Given the description of an element on the screen output the (x, y) to click on. 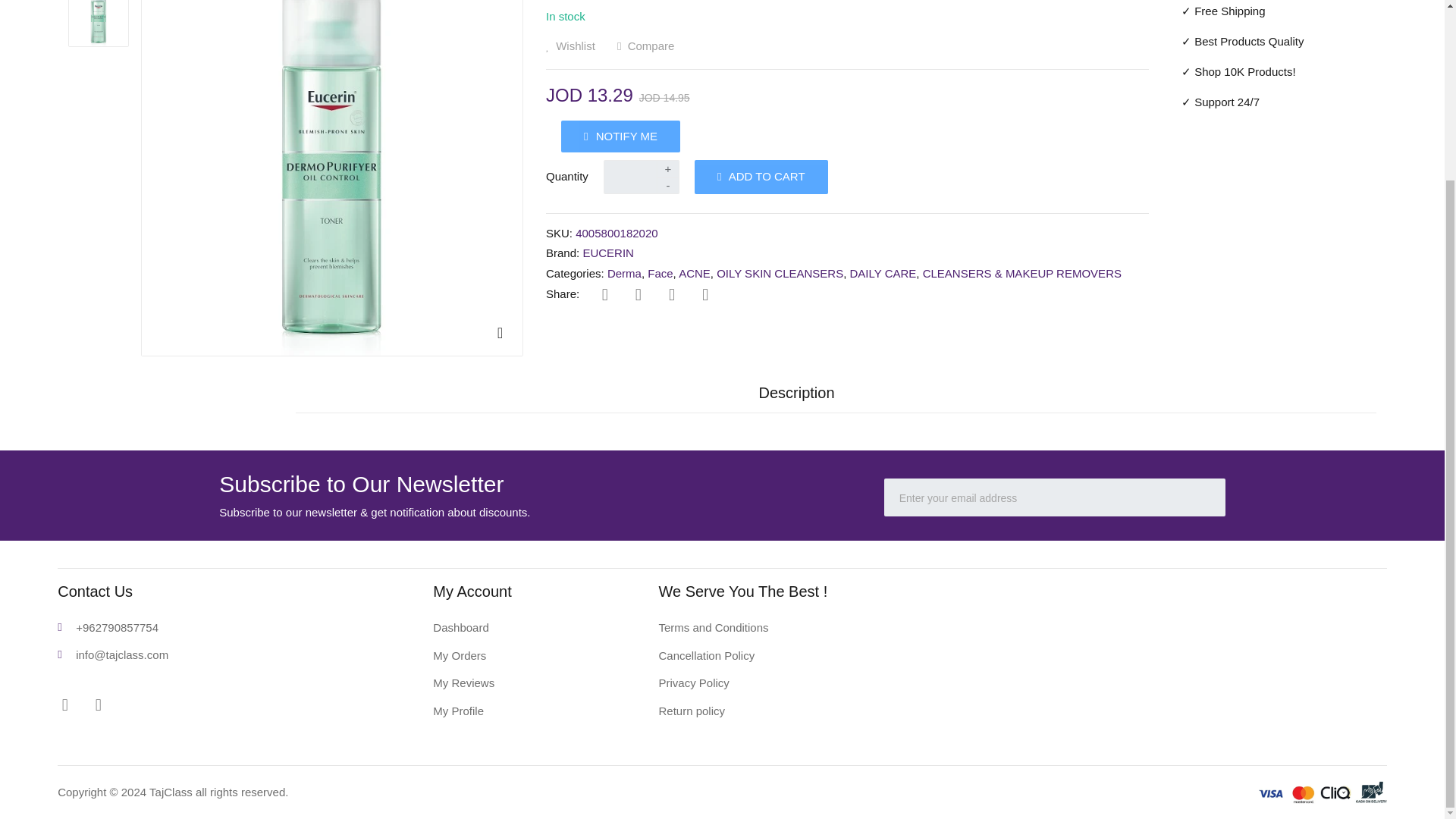
Tumblr (706, 294)
Linkedin (672, 294)
Facebook (604, 294)
Twitter (637, 294)
